Given the description of an element on the screen output the (x, y) to click on. 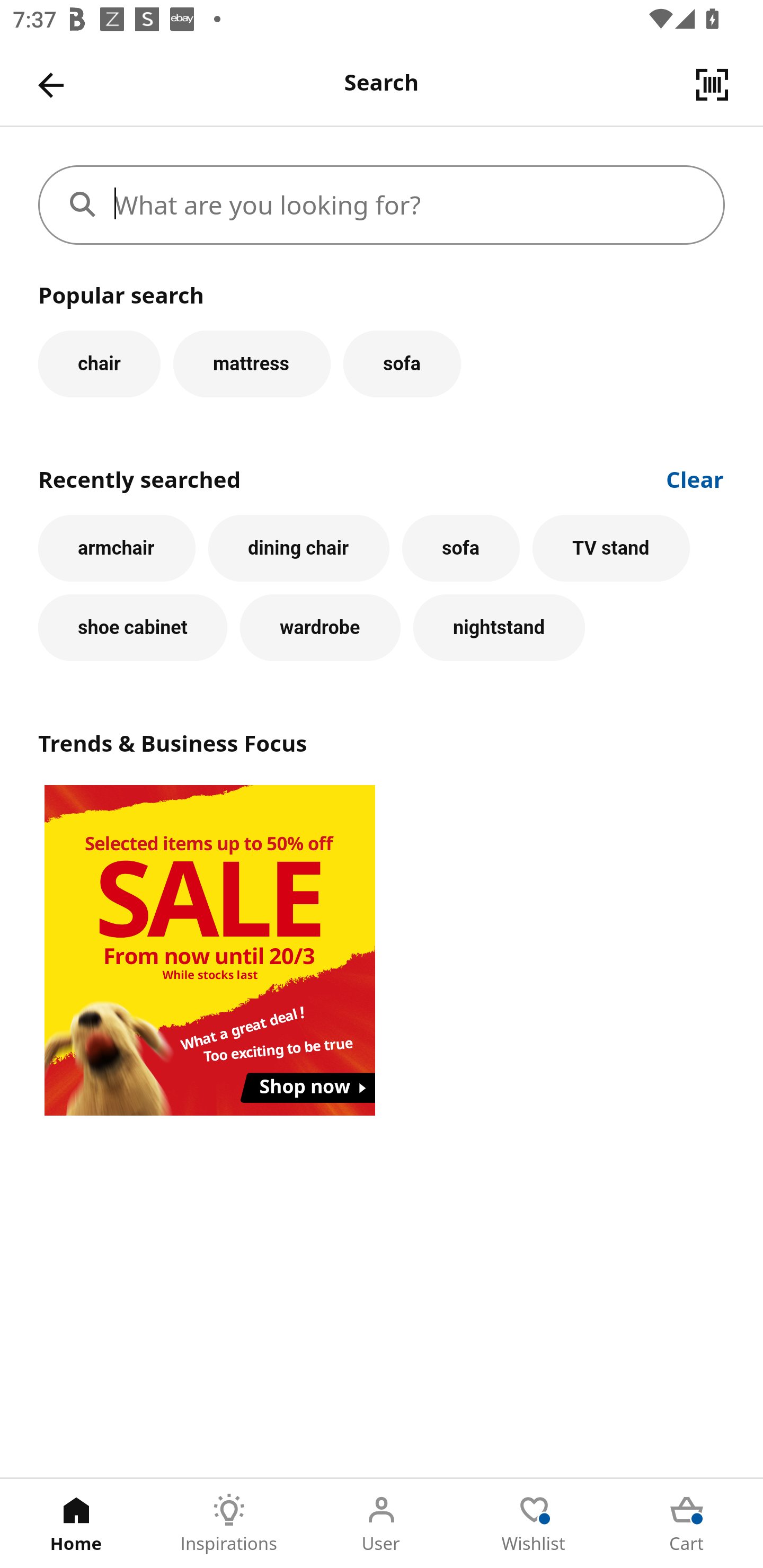
chair (99, 363)
mattress (251, 363)
sofa (401, 363)
Clear (695, 477)
armchair (116, 547)
dining chair (298, 547)
sofa (460, 547)
TV stand (610, 547)
shoe cabinet (132, 627)
wardrobe (320, 627)
nightstand (499, 627)
Home
Tab 1 of 5 (76, 1522)
Inspirations
Tab 2 of 5 (228, 1522)
User
Tab 3 of 5 (381, 1522)
Wishlist
Tab 4 of 5 (533, 1522)
Cart
Tab 5 of 5 (686, 1522)
